Given the description of an element on the screen output the (x, y) to click on. 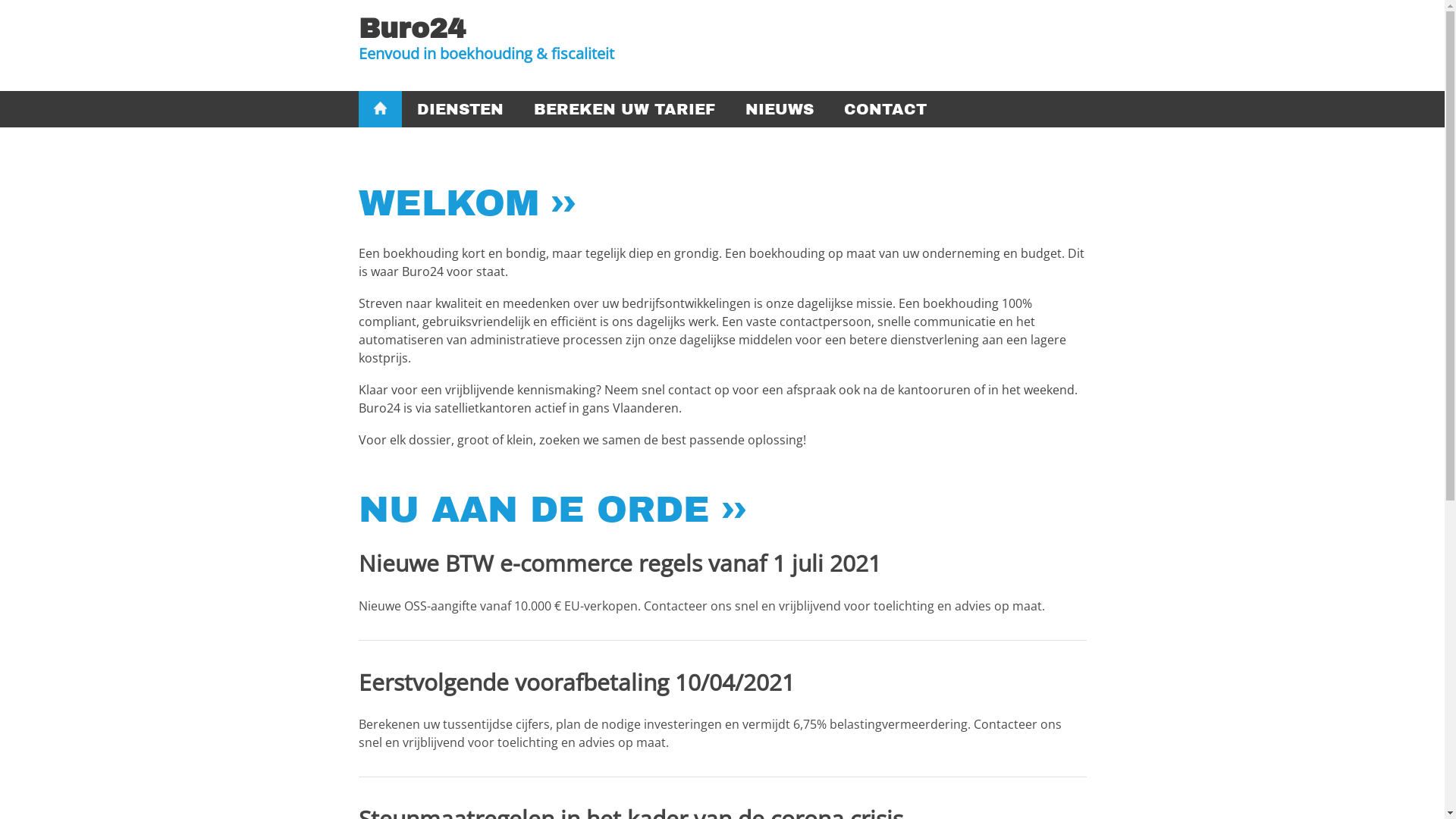
NIEUWS Element type: text (779, 109)
Home Element type: hover (379, 109)
DIENSTEN Element type: text (459, 109)
CONTACT Element type: text (884, 109)
BEREKEN UW TARIEF Element type: text (624, 109)
